Given the description of an element on the screen output the (x, y) to click on. 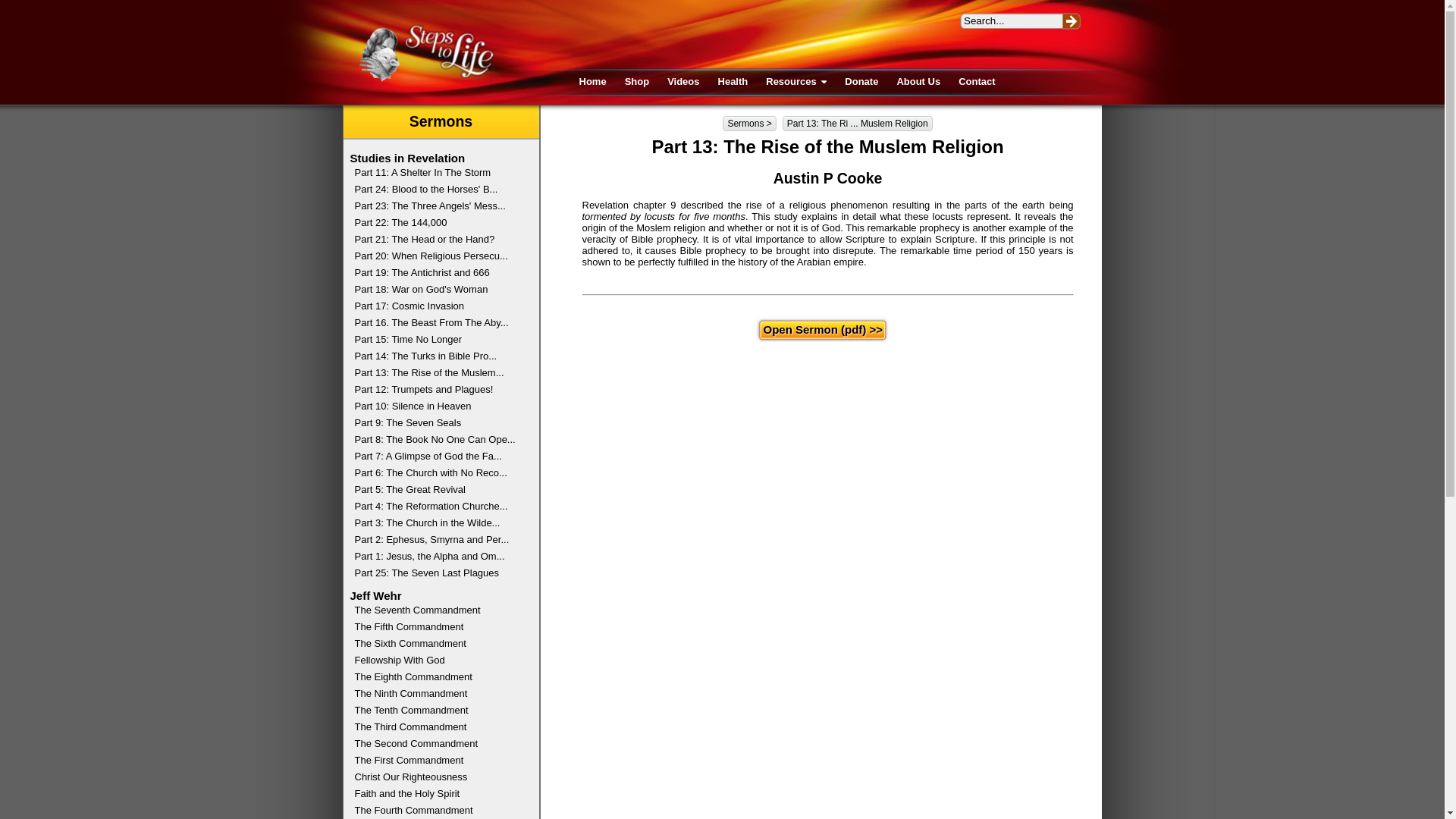
Faith and the Holy Spirit Element type: text (436, 795)
The Sixth Commandment Element type: text (436, 645)
Part 6: The Church with No Reco... Element type: text (436, 474)
Part 4: The Reformation Churche... Element type: text (436, 507)
Part 19: The Antichrist and 666 Element type: text (436, 274)
The Fifth Commandment Element type: text (436, 628)
Part 12: Trumpets and Plagues! Element type: text (436, 391)
Part 1: Jesus, the Alpha and Om... Element type: text (436, 557)
Part 3: The Church in the Wilde... Element type: text (436, 524)
Steps to Life Australia Element type: hover (425, 52)
Part 24: Blood to the Horses' B... Element type: text (436, 190)
Home Element type: text (592, 81)
Resources Element type: text (795, 81)
The Seventh Commandment Element type: text (436, 611)
Part 25: The Seven Last Plagues Element type: text (436, 574)
Part 22: The 144,000 Element type: text (436, 224)
Part 15: Time No Longer Element type: text (436, 341)
Donate Element type: text (861, 81)
Part 9: The Seven Seals Element type: text (436, 424)
Part 20: When Religious Persecu... Element type: text (436, 257)
Sermons > Element type: text (748, 123)
Part 17: Cosmic Invasion Element type: text (436, 307)
Part 23: The Three Angels' Mess... Element type: text (436, 207)
Videos Element type: text (683, 81)
Shop Element type: text (637, 81)
About Us Element type: text (918, 81)
Fellowship With God Element type: text (436, 661)
Christ Our Righteousness Element type: text (436, 778)
The Tenth Commandment Element type: text (436, 711)
Part 13: The Ri ... Muslem Religion Element type: text (857, 123)
The Eighth Commandment Element type: text (436, 678)
Part 2: Ephesus, Smyrna and Per... Element type: text (436, 541)
Part 5: The Great Revival Element type: text (436, 491)
The Third Commandment Element type: text (436, 728)
Part 7: A Glimpse of God the Fa... Element type: text (436, 457)
Part 16. The Beast From The Aby... Element type: text (436, 324)
The First Commandment Element type: text (436, 761)
Part 10: Silence in Heaven Element type: text (436, 407)
Part 14: The Turks in Bible Pro... Element type: text (436, 357)
Part 11: A Shelter In The Storm Element type: text (436, 174)
Contact Element type: text (976, 81)
Part 13: The Rise of the Muslem... Element type: text (436, 374)
Open Sermon (pdf) >> Element type: text (821, 329)
Part 21: The Head or the Hand? Element type: text (436, 241)
  Element type: text (1071, 20)
The Ninth Commandment Element type: text (436, 695)
Part 8: The Book No One Can Ope... Element type: text (436, 441)
Health Element type: text (732, 81)
Part 18: War on God's Woman Element type: text (436, 291)
The Second Commandment Element type: text (436, 745)
